Given the description of an element on the screen output the (x, y) to click on. 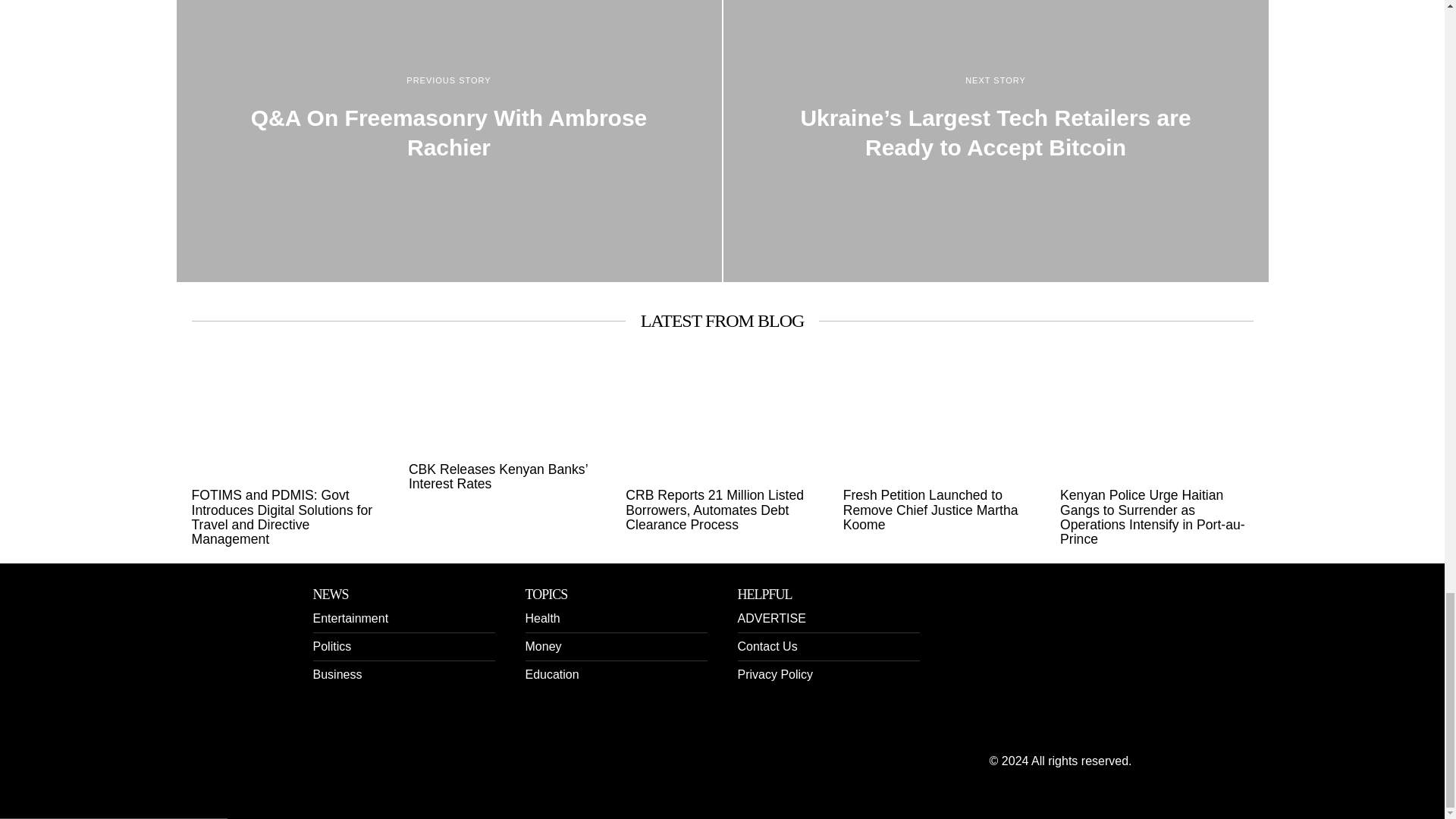
Entertainment (350, 617)
Politics (331, 645)
Business (337, 674)
Fresh Petition Launched to Remove Chief Justice Martha Koome (939, 510)
Health (541, 617)
